Given the description of an element on the screen output the (x, y) to click on. 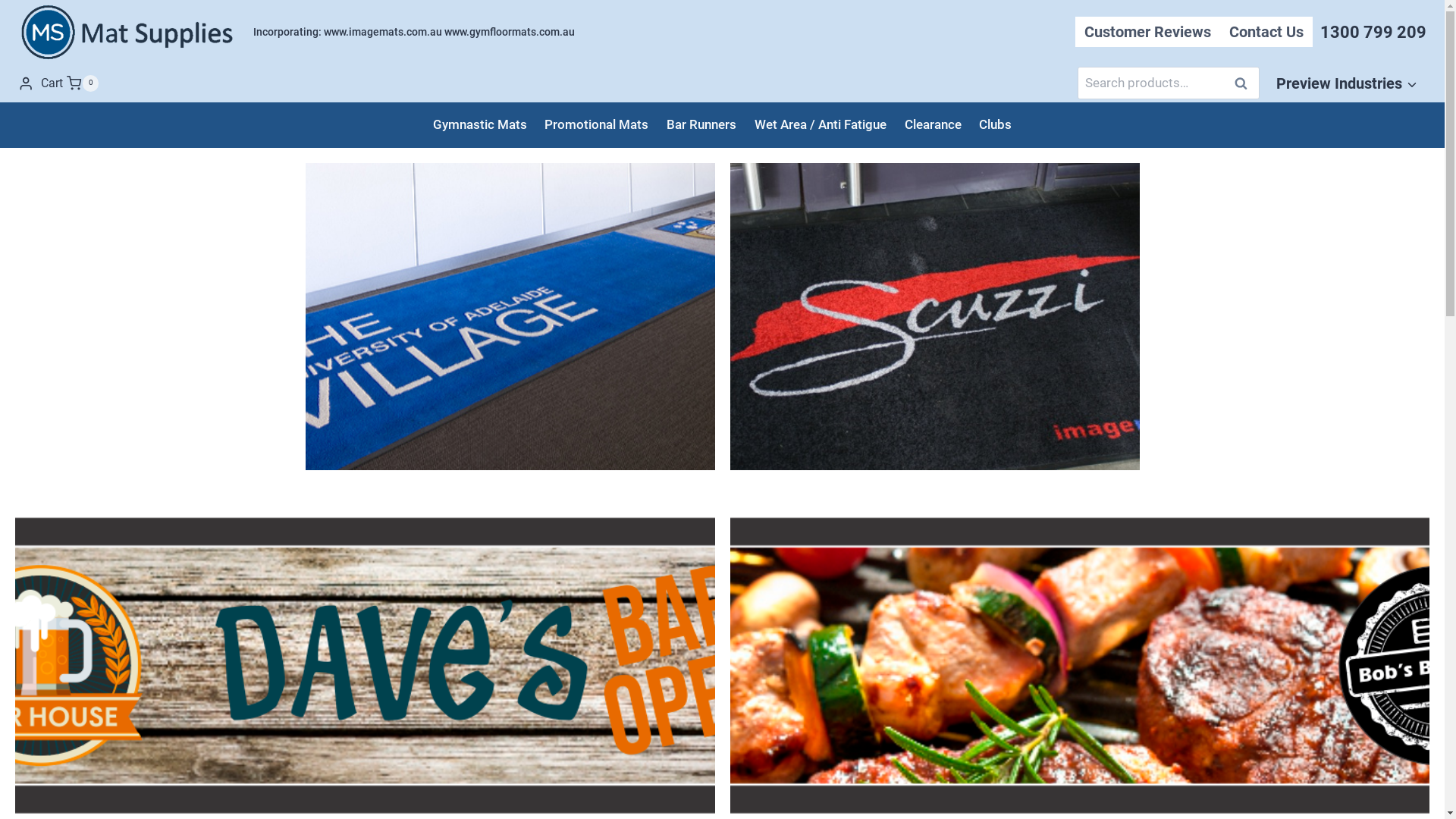
Clearance Element type: text (932, 124)
Contact Us Element type: text (1266, 31)
Clubs Element type: text (995, 124)
Wet Area / Anti Fatigue Element type: text (820, 124)
Promotional Mats Element type: text (596, 124)
Cart
0 Element type: text (69, 83)
Preview Industries Element type: text (1346, 83)
Search Element type: text (1240, 82)
Customer Reviews Element type: text (1147, 31)
Gymnastic Mats Element type: text (479, 124)
Bar Runners Element type: text (701, 124)
